Given the description of an element on the screen output the (x, y) to click on. 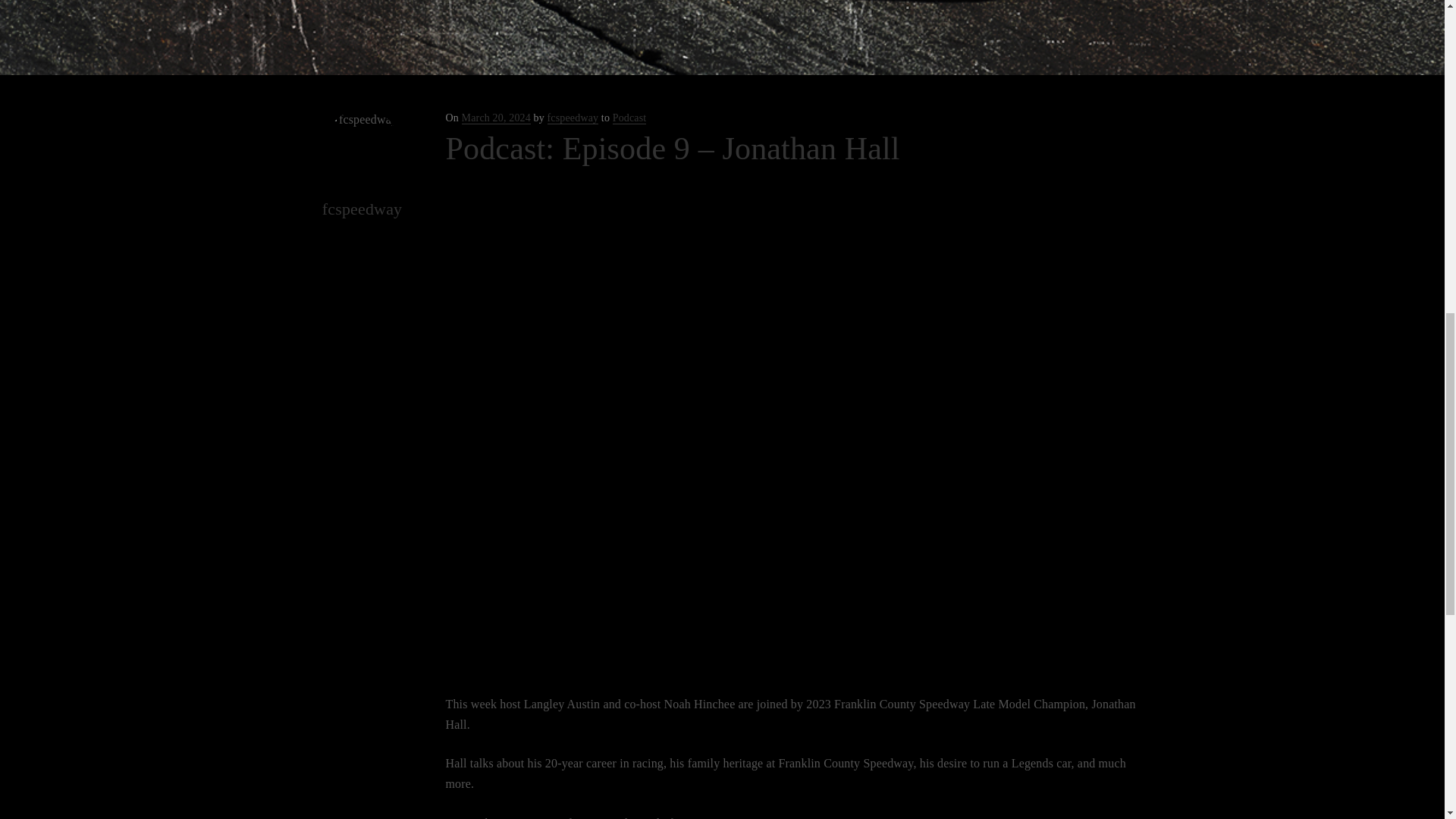
March 20, 2024 (496, 118)
Podcast (629, 118)
fcspeedway (572, 118)
